Given the description of an element on the screen output the (x, y) to click on. 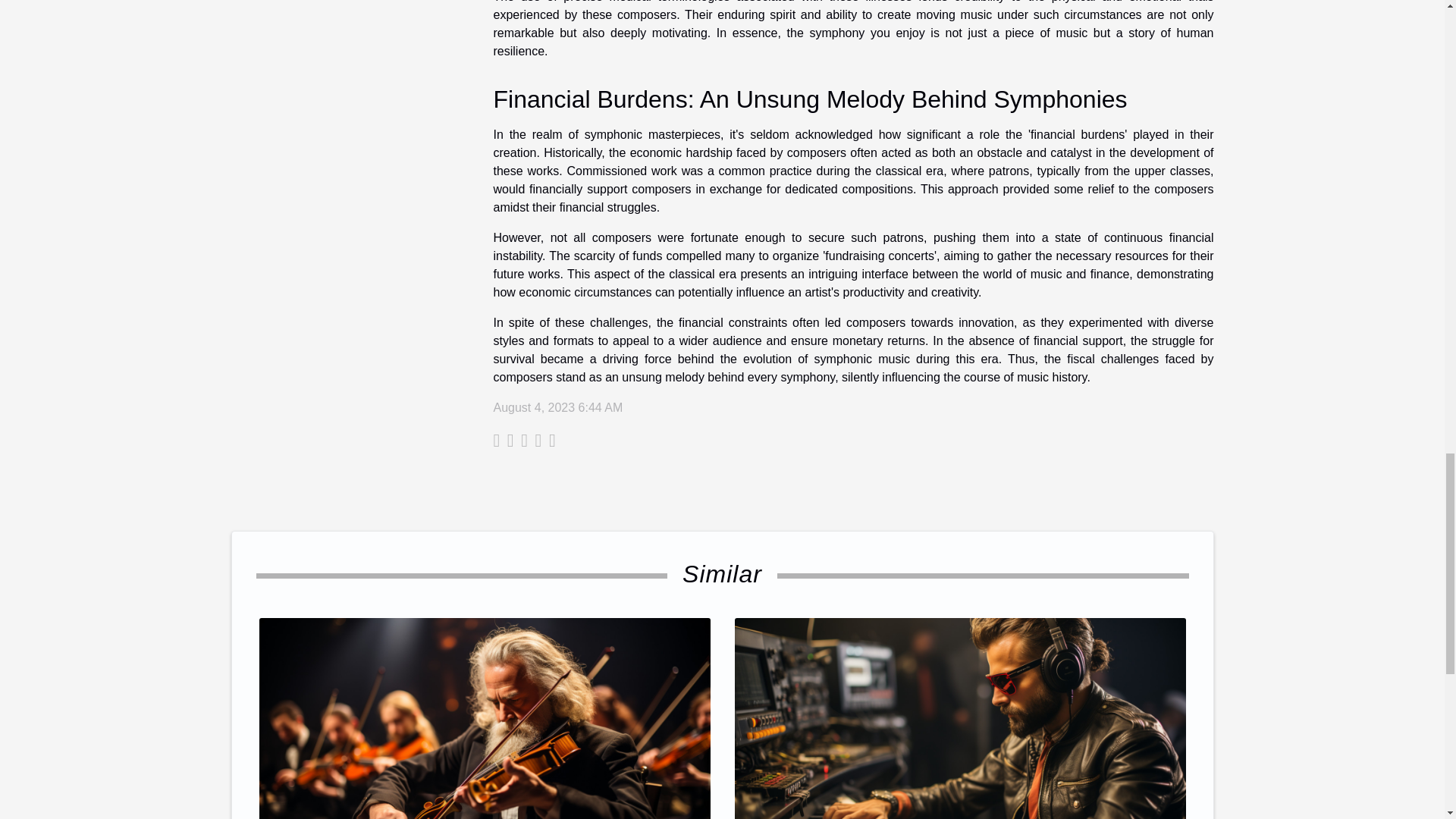
The Unseen Struggles Behind Your Favorite Symphony (484, 745)
Breaking Stereotypes: The Evolution of Electronic Music (959, 745)
